Given the description of an element on the screen output the (x, y) to click on. 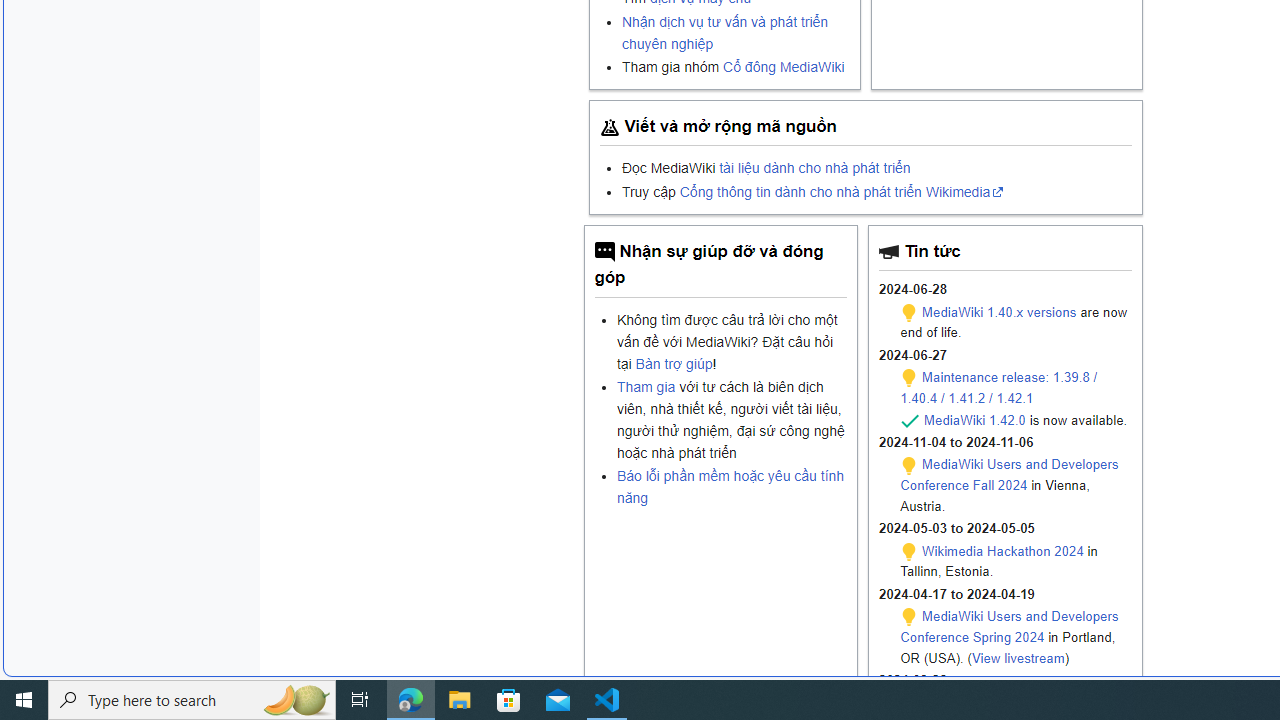
Wikimedia Hackathon 2024 (1002, 550)
View livestream (1017, 658)
MediaWiki Users and Developers Conference Spring 2024 (1008, 626)
Tham gia (645, 387)
Release (910, 421)
